Given the description of an element on the screen output the (x, y) to click on. 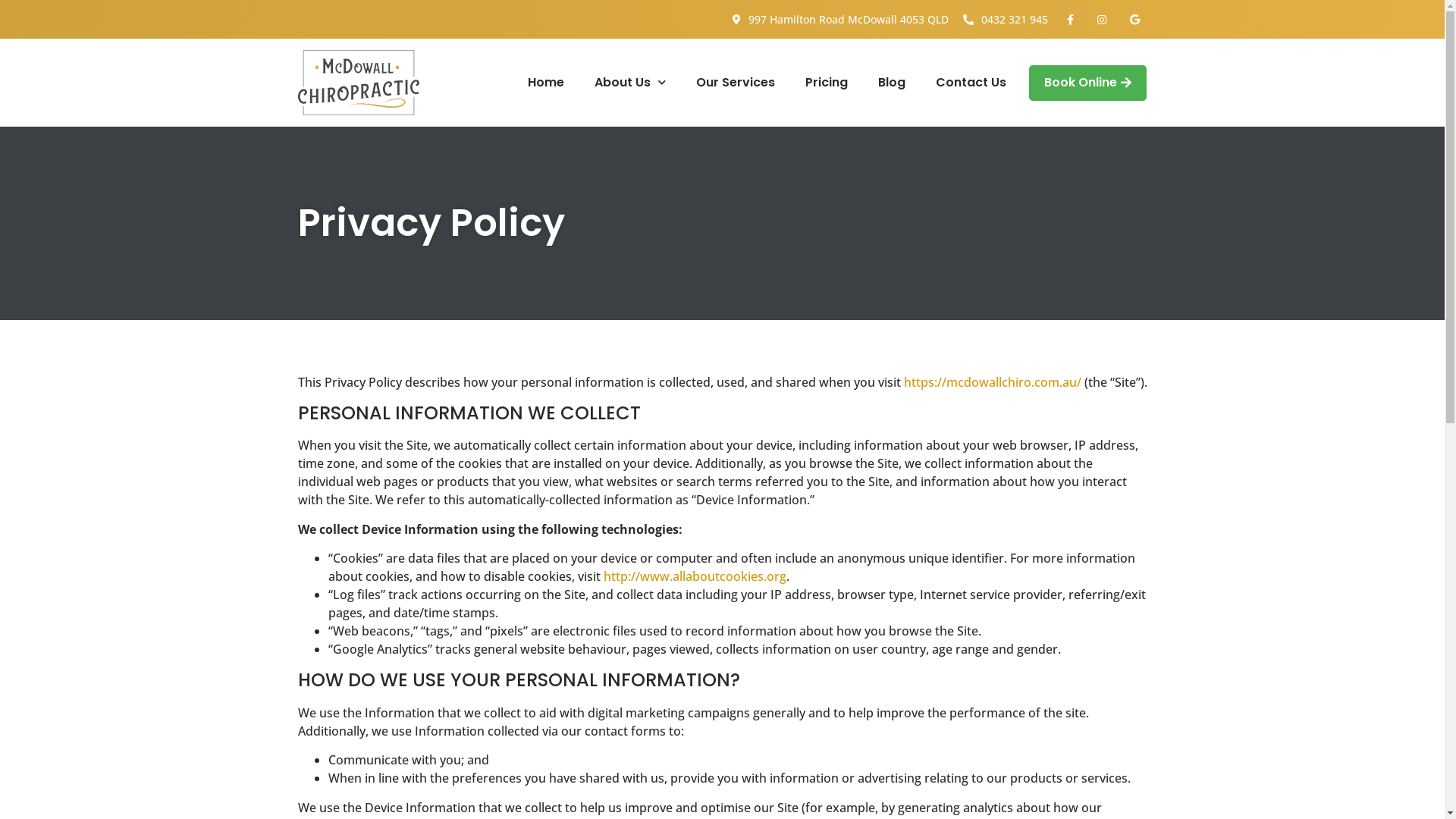
http://www.allaboutcookies.org Element type: text (694, 575)
Home Element type: text (545, 82)
https://mcdowallchiro.com.au/ Element type: text (992, 381)
0432 321 945 Element type: text (1004, 19)
Blog Element type: text (891, 82)
Book Online Element type: text (1087, 82)
Contact Us Element type: text (970, 82)
Our Services Element type: text (735, 82)
Pricing Element type: text (826, 82)
About Us Element type: text (629, 82)
